Given the description of an element on the screen output the (x, y) to click on. 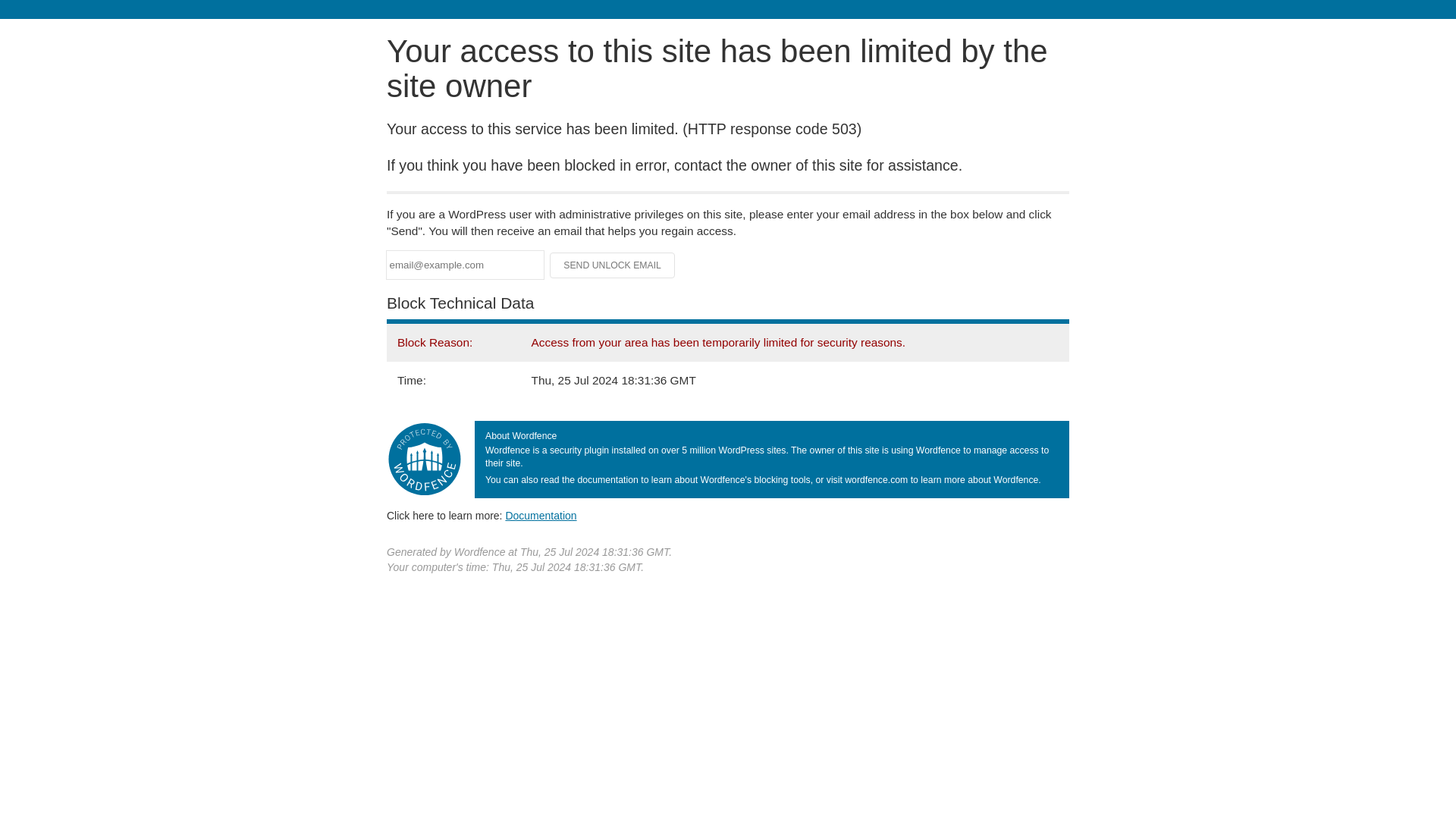
Send Unlock Email (612, 265)
Documentation (540, 515)
Send Unlock Email (612, 265)
